Given the description of an element on the screen output the (x, y) to click on. 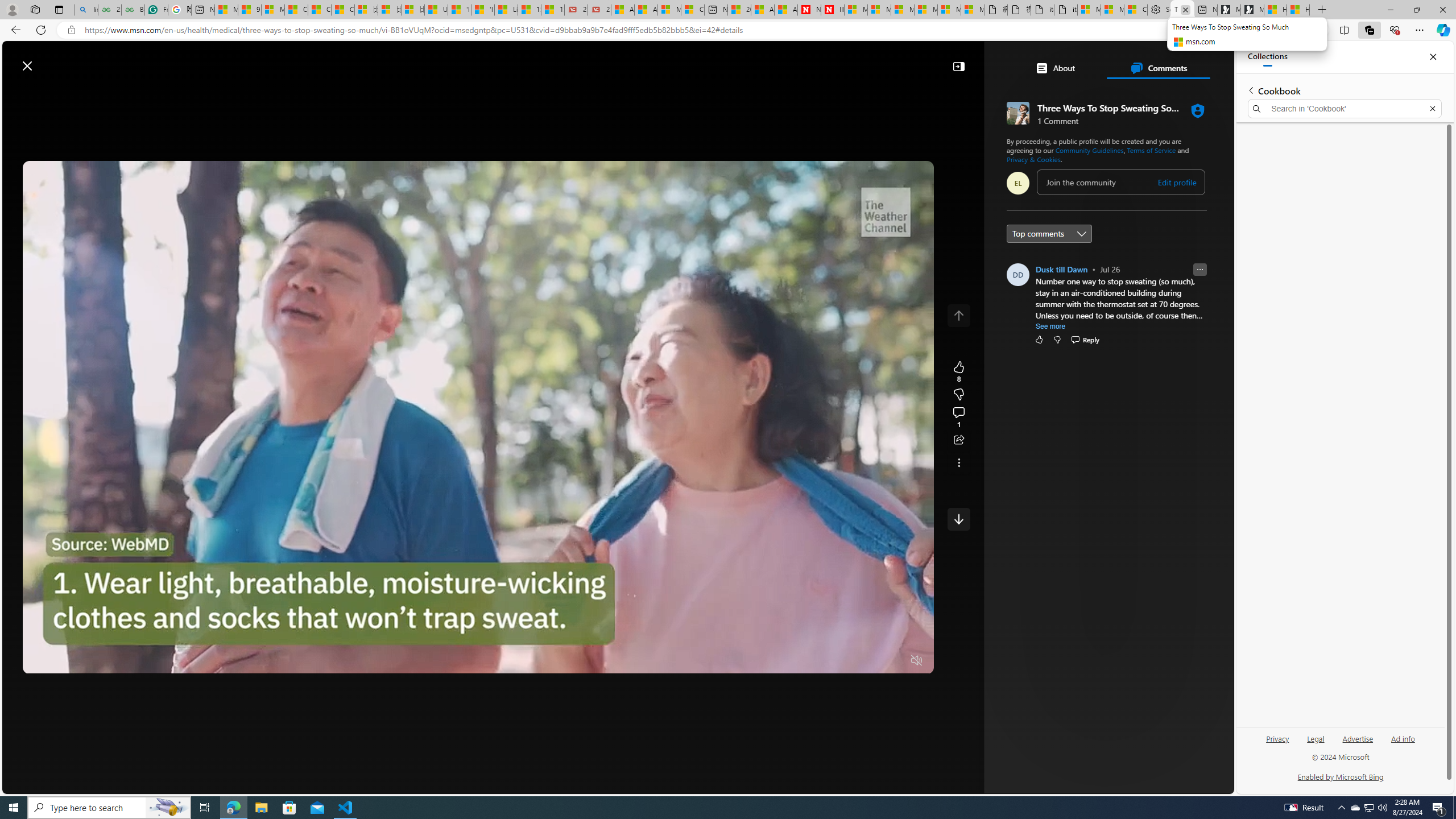
Cloud Computing Services | Microsoft Azure (692, 9)
ATP Personal Training HK (1100, 601)
Quality Settings (849, 660)
